Given the description of an element on the screen output the (x, y) to click on. 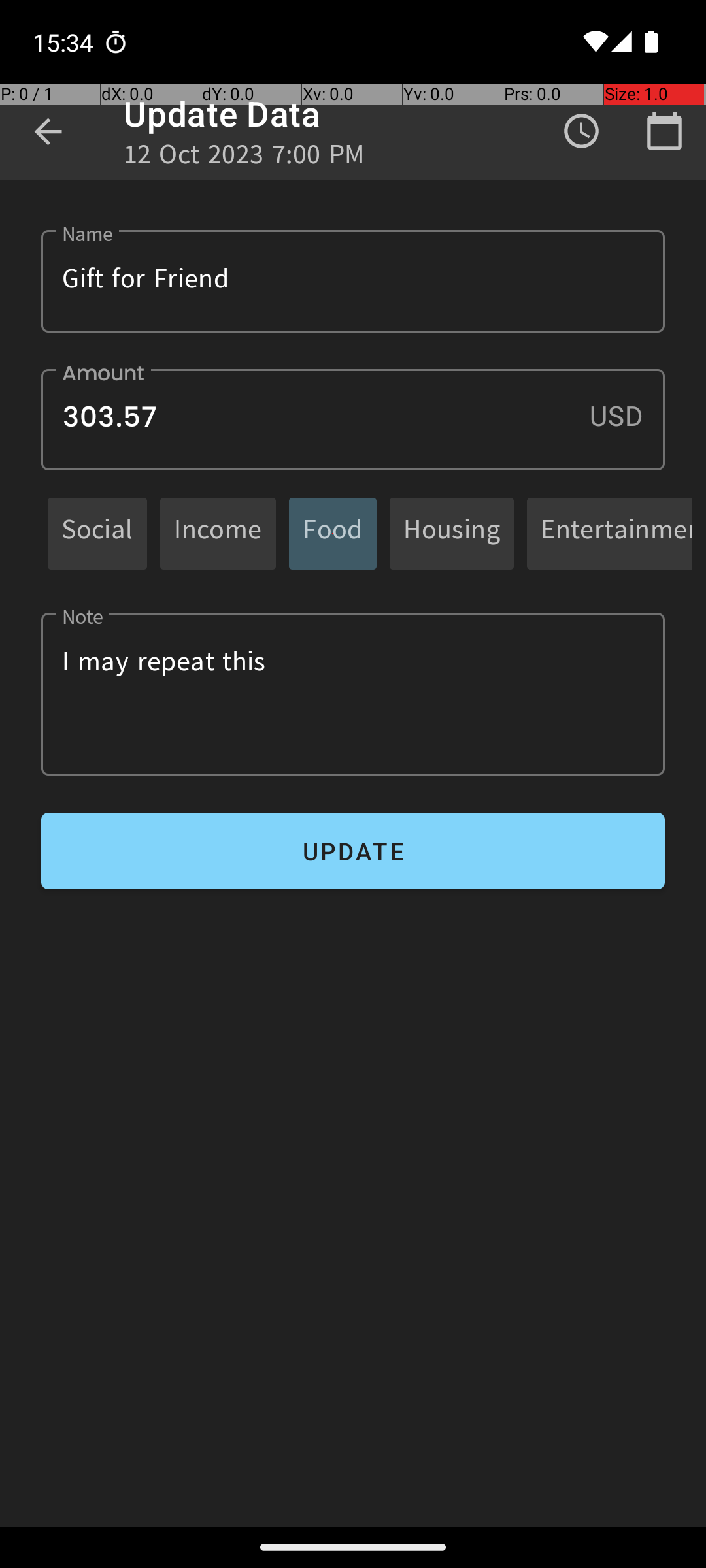
12 Oct 2023 7:00 PM Element type: android.widget.TextView (244, 157)
303.57 Element type: android.widget.EditText (352, 419)
